Given the description of an element on the screen output the (x, y) to click on. 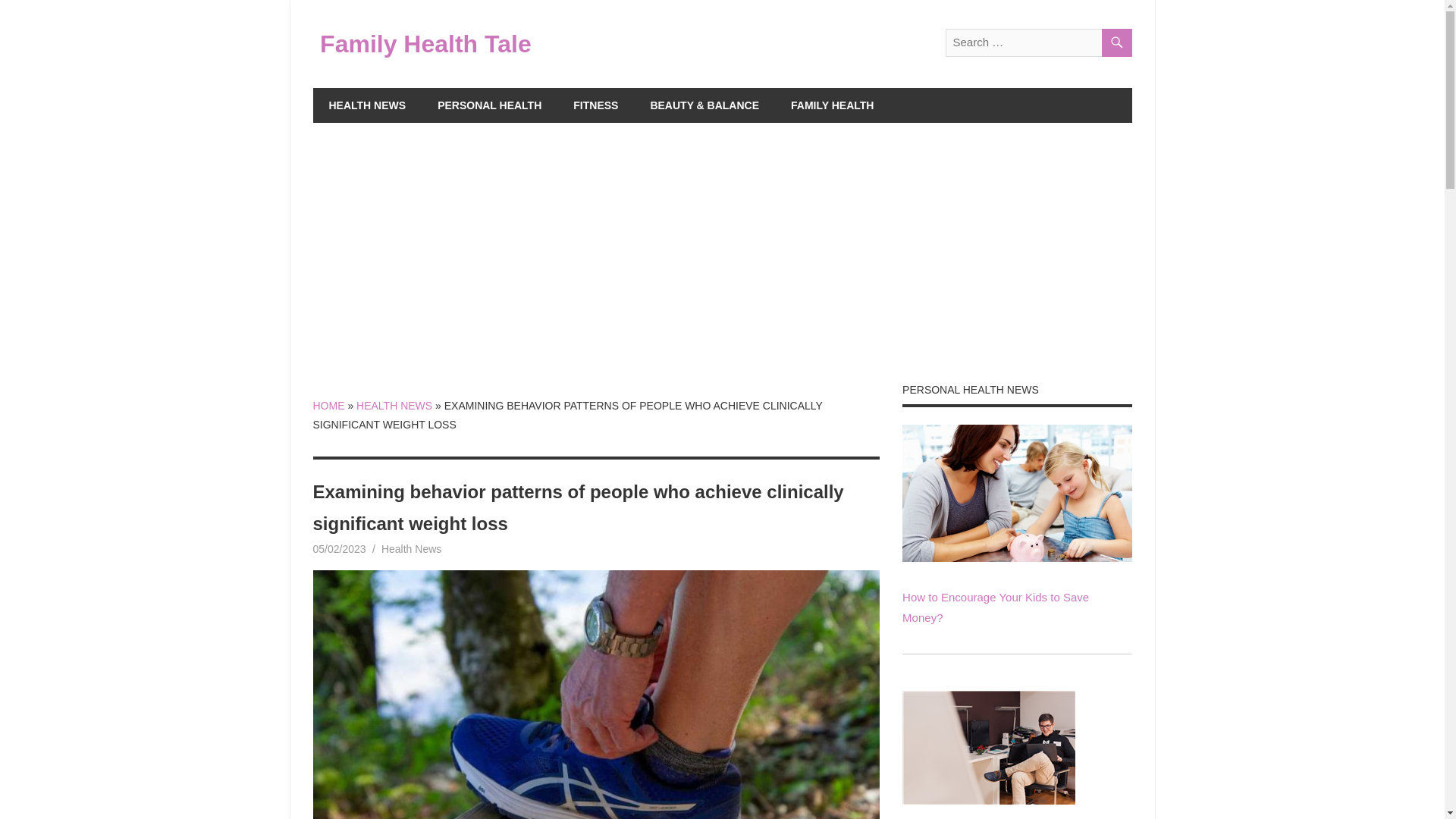
Search for: (1037, 42)
How to Encourage Your Kids to Save Money? (1016, 493)
PERSONAL HEALTH (489, 104)
FITNESS (595, 104)
How to Encourage Your Kids to Save Money? (995, 606)
FAMILY HEALTH (831, 104)
View all posts by mediabest (403, 548)
6:11 pm (339, 548)
HOME (328, 405)
mediabest (403, 548)
How to Encourage Your Kids to Save Money? (1016, 557)
HEALTH NEWS (367, 104)
HEALTH NEWS (394, 405)
Health News (411, 548)
Family Health Tale (425, 43)
